Given the description of an element on the screen output the (x, y) to click on. 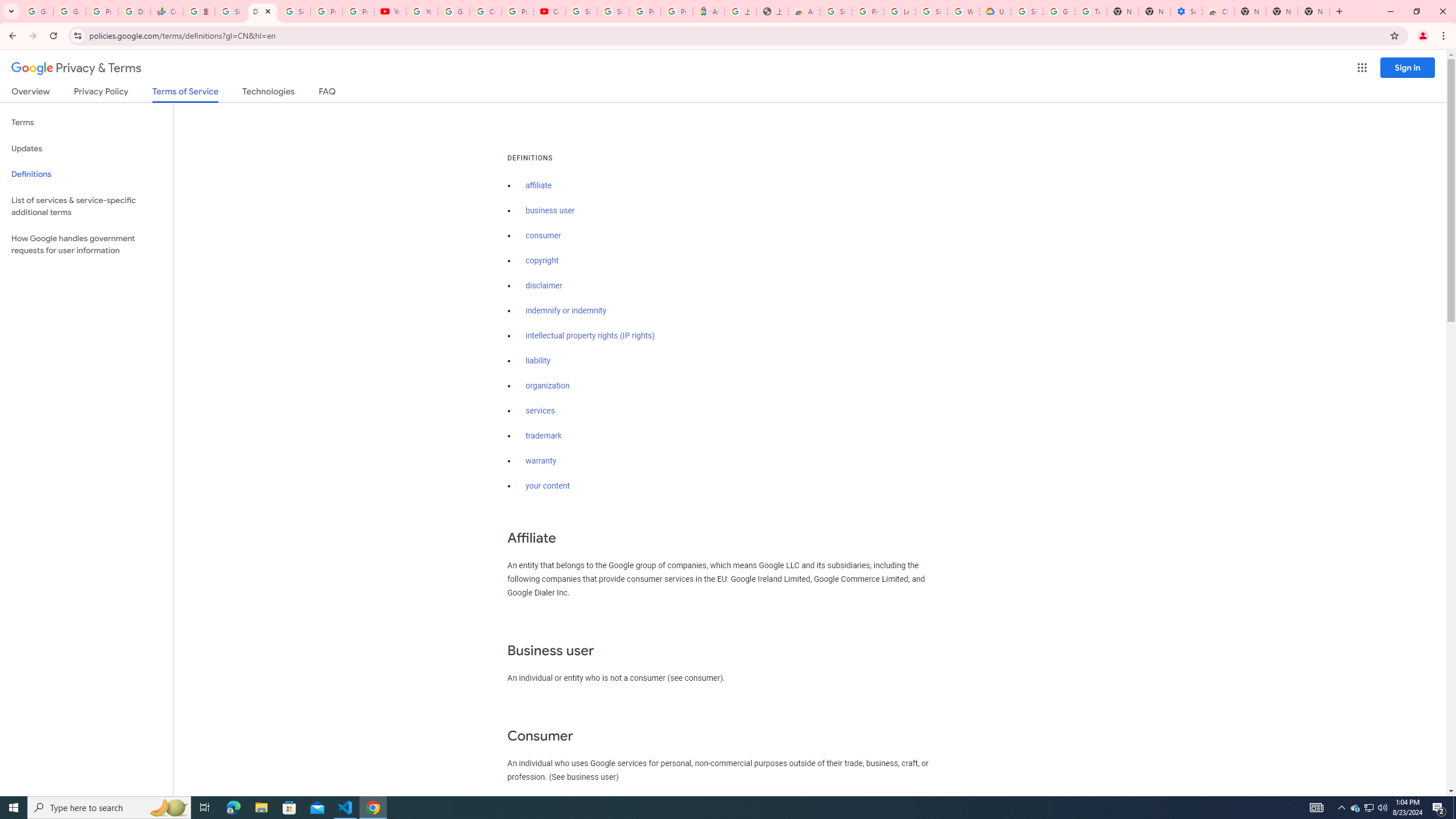
Create your Google Account (485, 11)
Turn cookies on or off - Computer - Google Account Help (1091, 11)
Google Account Help (453, 11)
intellectual property rights (IP rights) (590, 335)
